Given the description of an element on the screen output the (x, y) to click on. 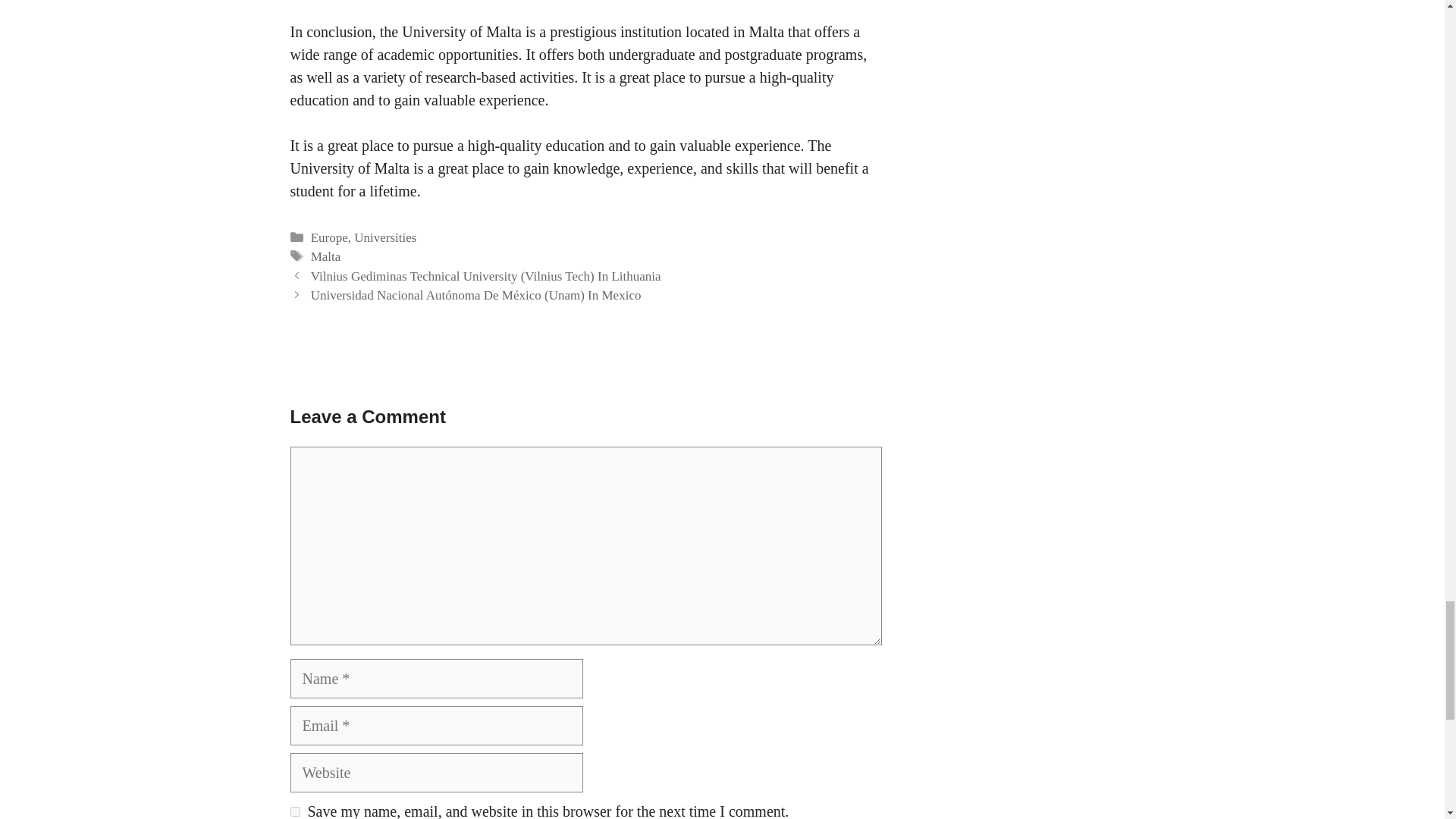
Europe (329, 237)
Universities (384, 237)
Malta (325, 256)
yes (294, 811)
